Given the description of an element on the screen output the (x, y) to click on. 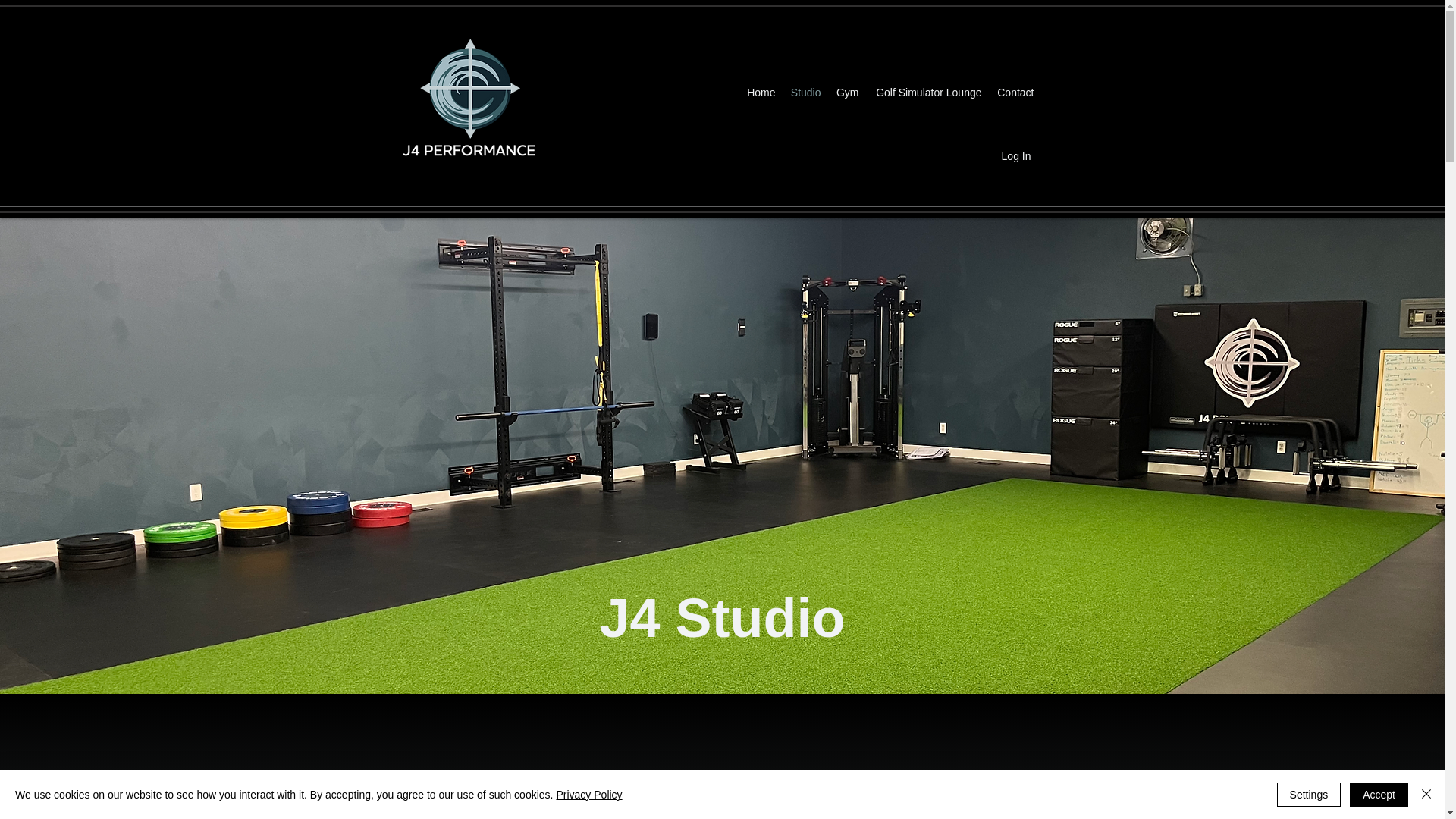
Gym (847, 92)
Claire Deadbug.jpg (467, 810)
Golf Simulator Lounge (927, 92)
Log In (1016, 156)
Settings (1308, 794)
Privacy Policy (588, 794)
Contact (1014, 92)
Studio (805, 92)
Accept (1378, 794)
Home (760, 92)
